Given the description of an element on the screen output the (x, y) to click on. 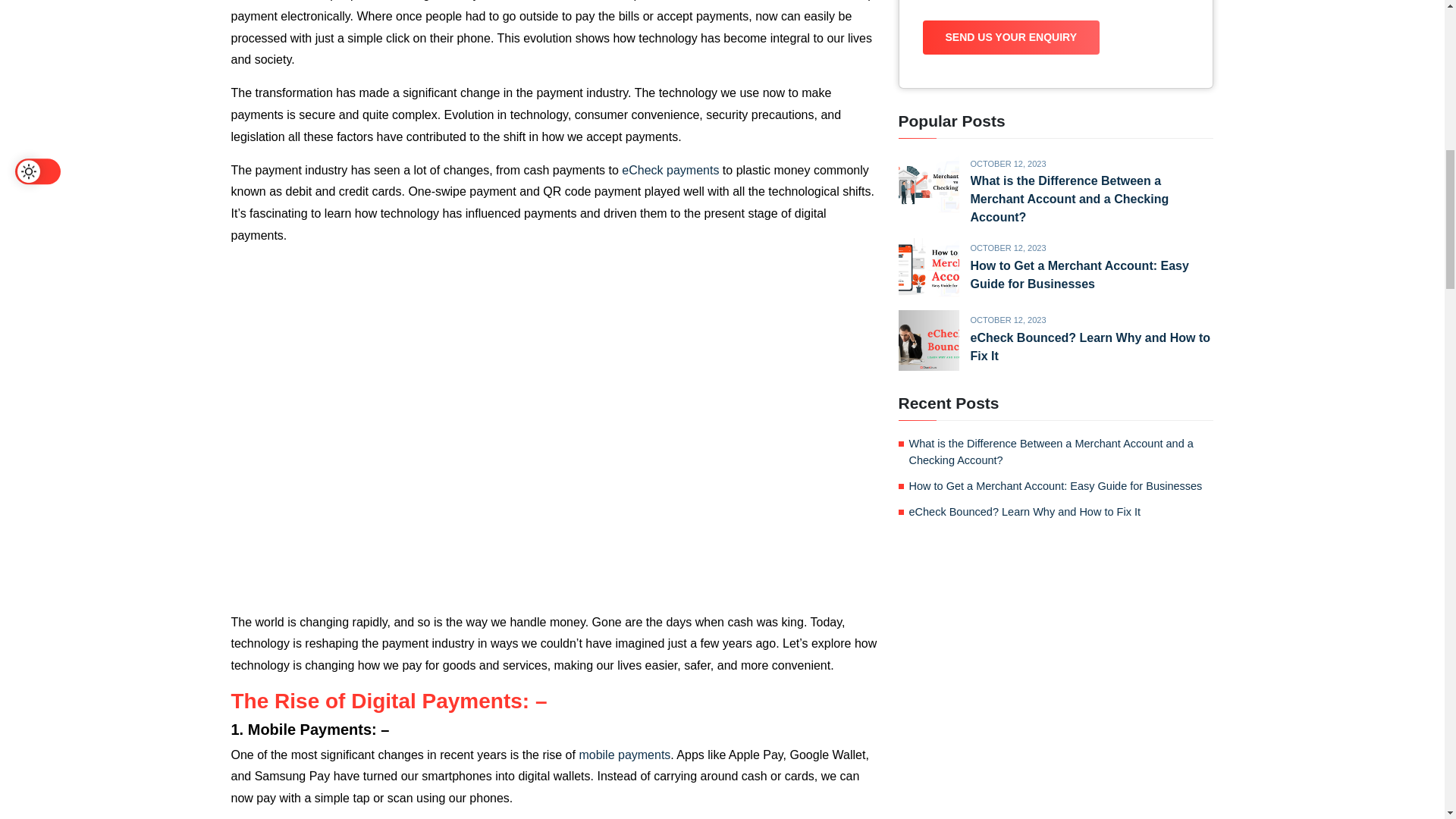
Send Us Your Enquiry (1010, 37)
mobile payments (623, 754)
How to Get a Merchant Account: Easy Guide for Businesses (1055, 485)
eCheck Bounced? Learn Why and How to Fix It  (1090, 346)
mobile payments (623, 754)
Send Us Your Enquiry (1010, 37)
How to Get a Merchant Account: Easy Guide for Businesses (1080, 274)
eCheck Bounced? Learn Why and How to Fix It  (1025, 511)
eCheck payments (670, 169)
eCheck payments (670, 169)
